Given the description of an element on the screen output the (x, y) to click on. 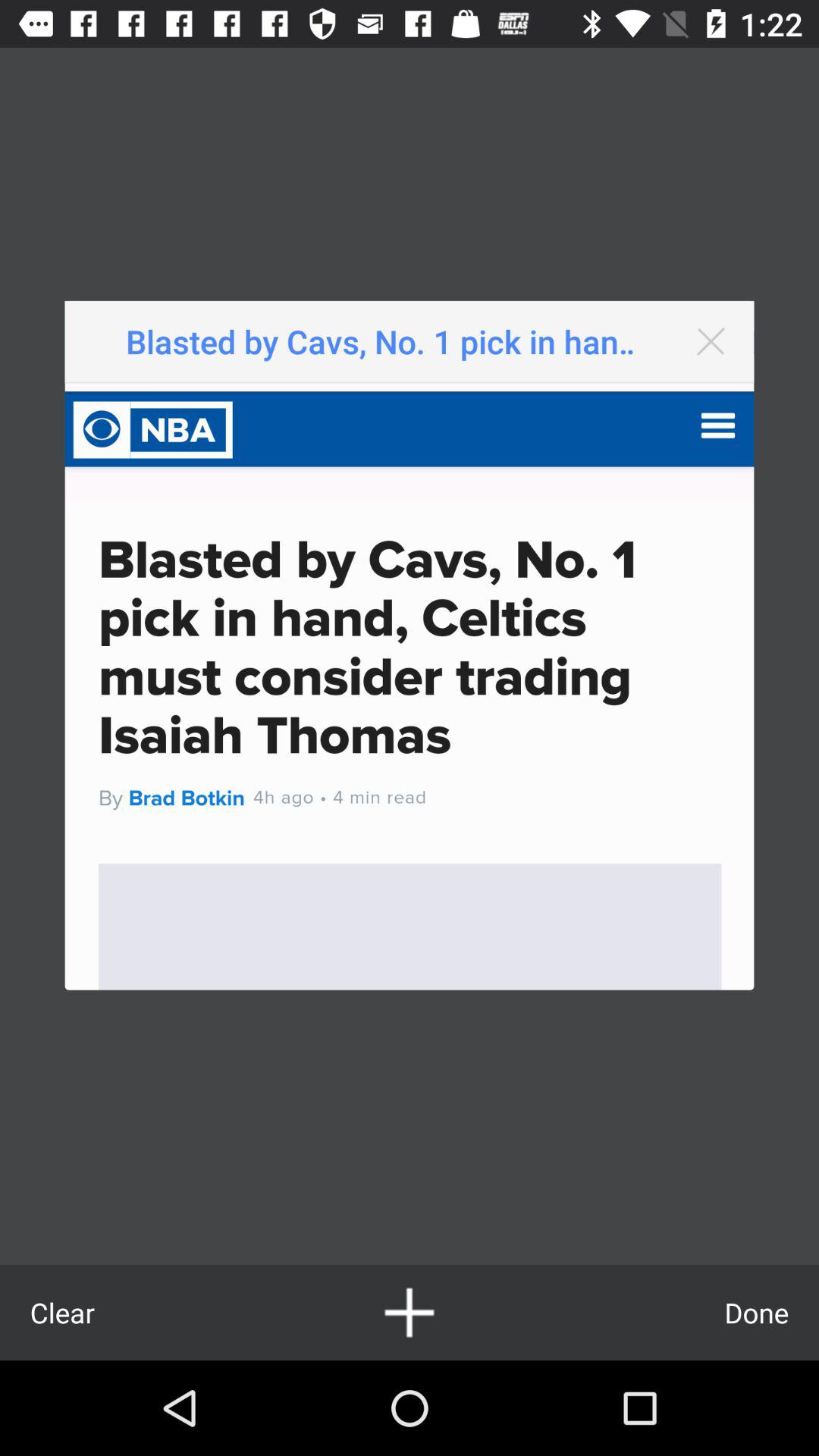
add article (409, 1312)
